Given the description of an element on the screen output the (x, y) to click on. 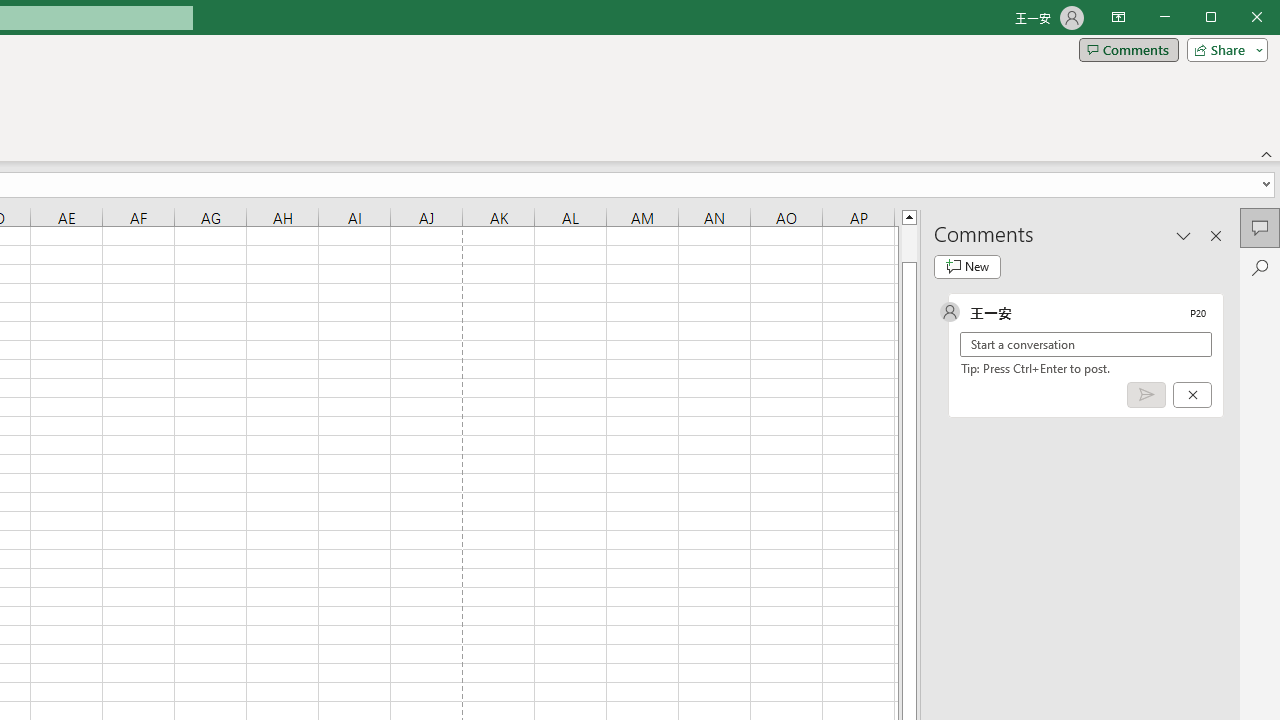
Close pane (1215, 235)
